Given the description of an element on the screen output the (x, y) to click on. 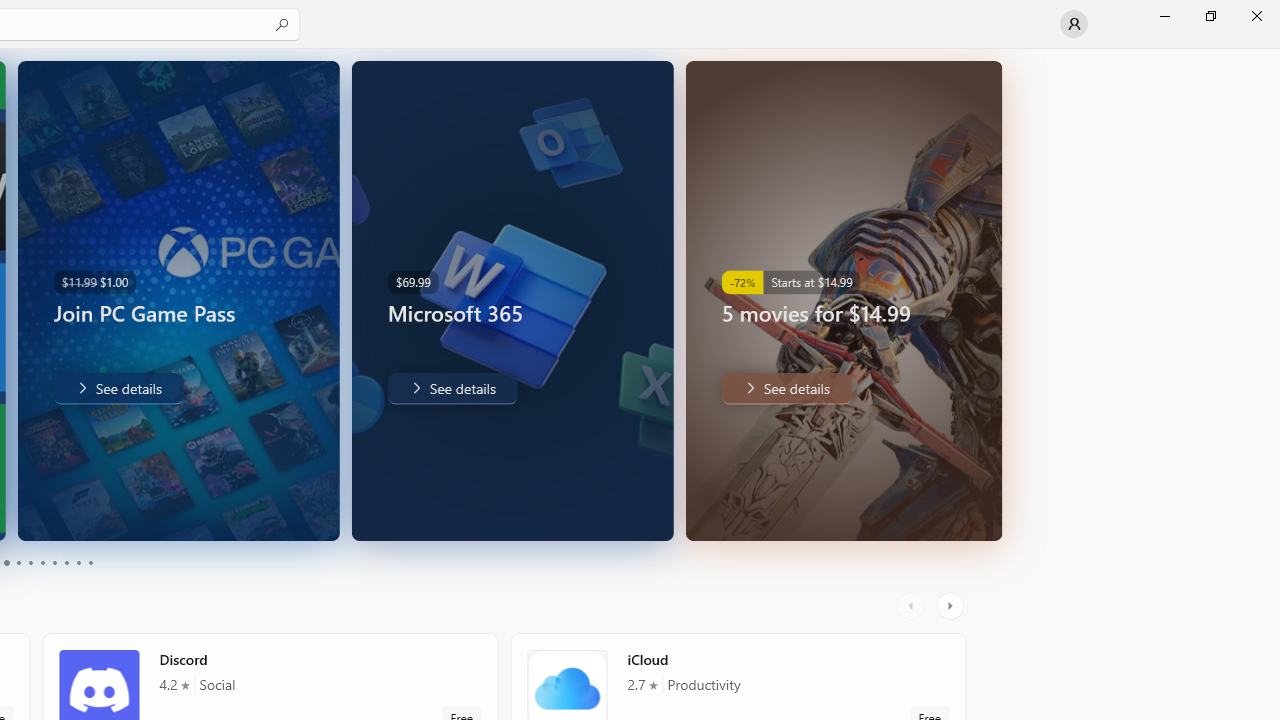
AutomationID: RightScrollButton (952, 606)
User profile (1073, 24)
